Given the description of an element on the screen output the (x, y) to click on. 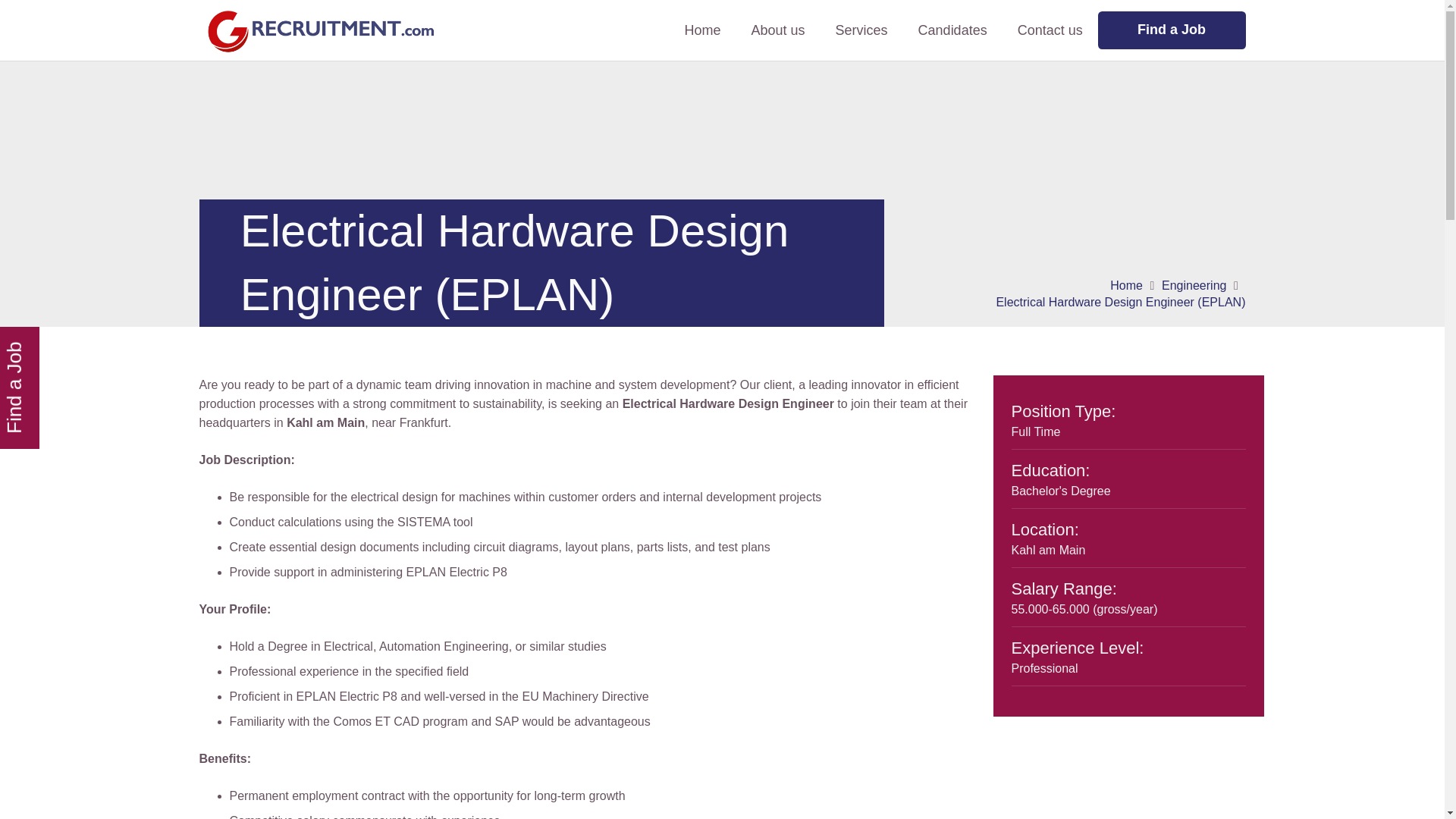
Services (861, 30)
Home (1125, 285)
Engineering (1193, 285)
Candidates (952, 30)
Contact us (1050, 30)
Home (701, 30)
About us (777, 30)
Find a Job (1171, 30)
